Given the description of an element on the screen output the (x, y) to click on. 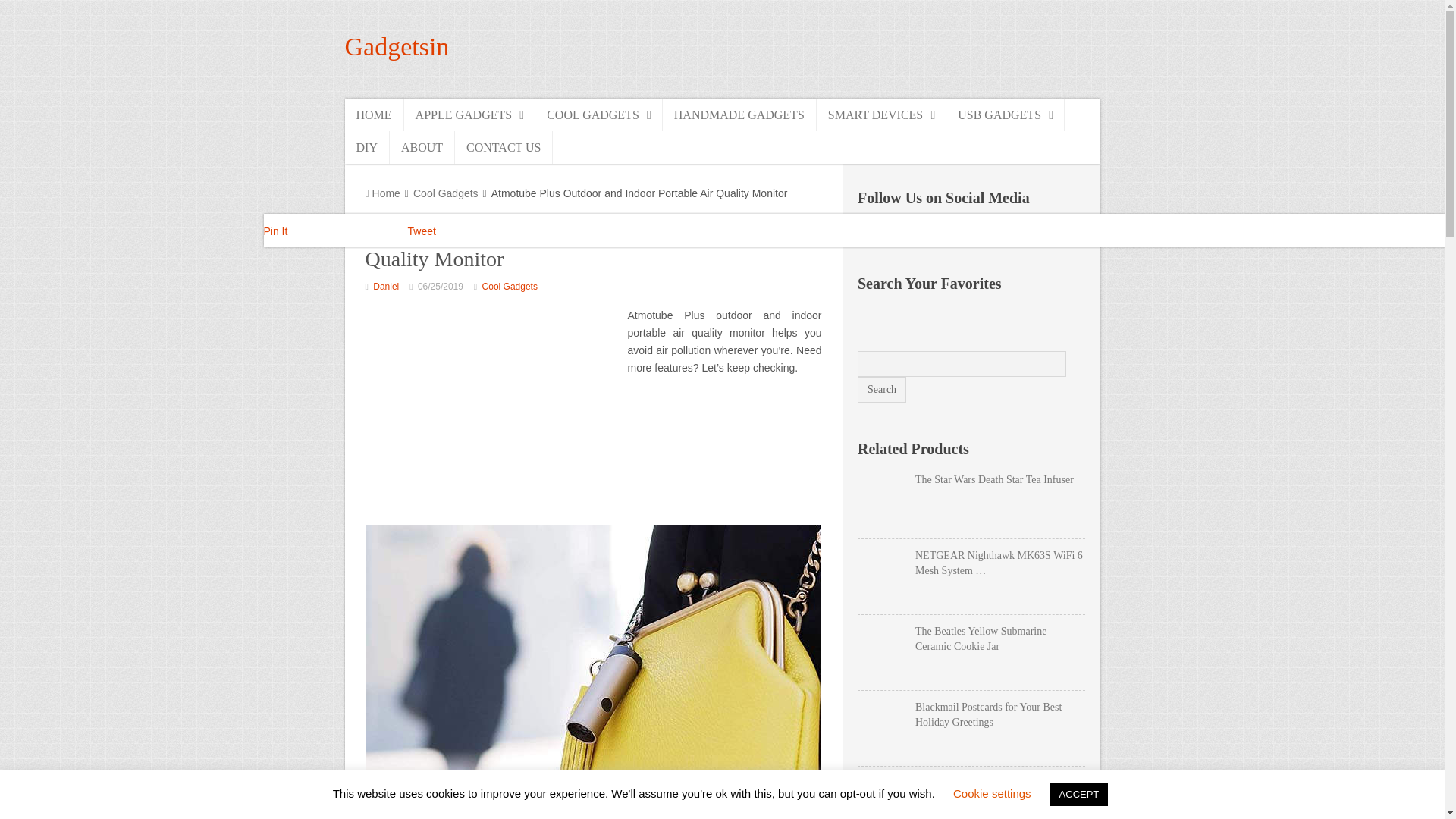
USB GADGETS (1005, 114)
DIY (365, 147)
HANDMADE GADGETS (739, 114)
Pinterest (903, 233)
RSS (1033, 233)
The Star Wars Death Star Tea Infuser (970, 479)
Posts by Daniel (385, 286)
Pin It (275, 231)
Search (881, 389)
COOL GADGETS (598, 114)
HOME (373, 114)
Twitter (968, 233)
APPLE GADGETS (469, 114)
Daniel (385, 286)
Gadgetsin (395, 46)
